Given the description of an element on the screen output the (x, y) to click on. 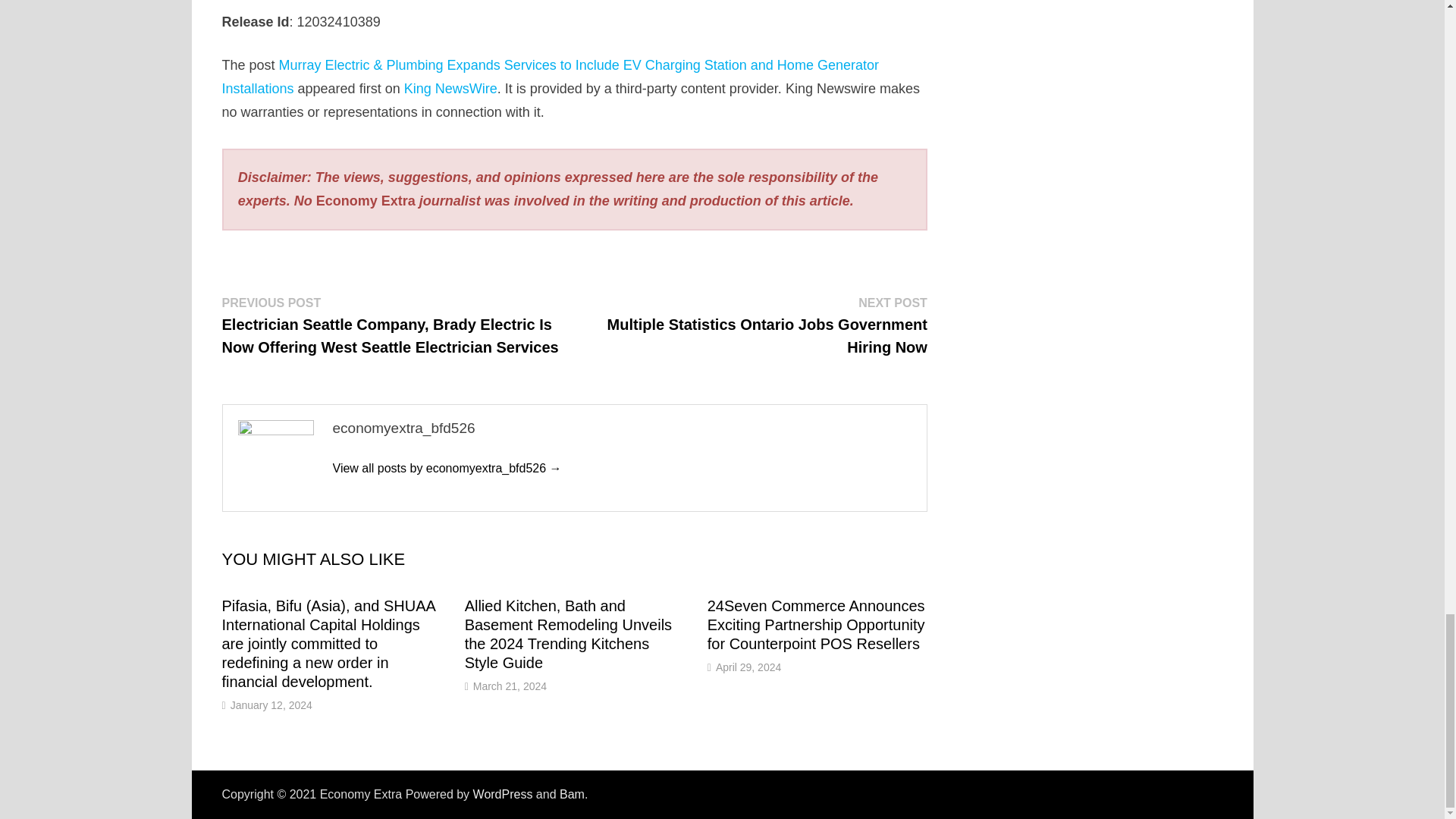
January 12, 2024 (271, 705)
King NewsWire (450, 88)
